Given the description of an element on the screen output the (x, y) to click on. 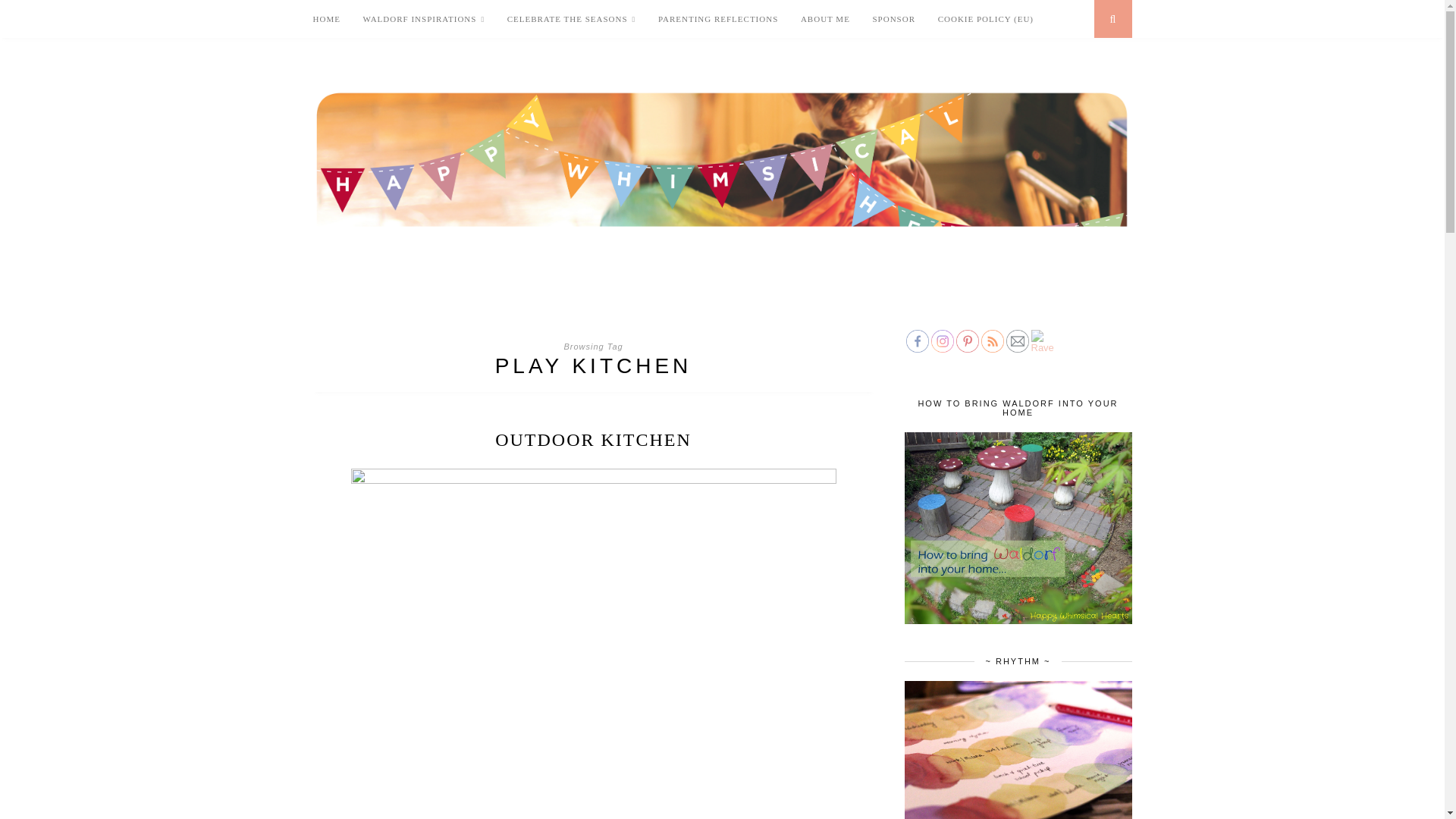
Facebook (916, 341)
PARENTING REFLECTIONS (717, 18)
Follow by Email (1016, 341)
WALDORF INSPIRATIONS (423, 19)
SPONSOR (893, 18)
CELEBRATE THE SEASONS (571, 19)
Instagram (942, 341)
ABOUT ME (825, 18)
RSS (992, 341)
Ravelry (1042, 341)
Pinterest (966, 341)
OUTDOOR KITCHEN (593, 439)
